Given the description of an element on the screen output the (x, y) to click on. 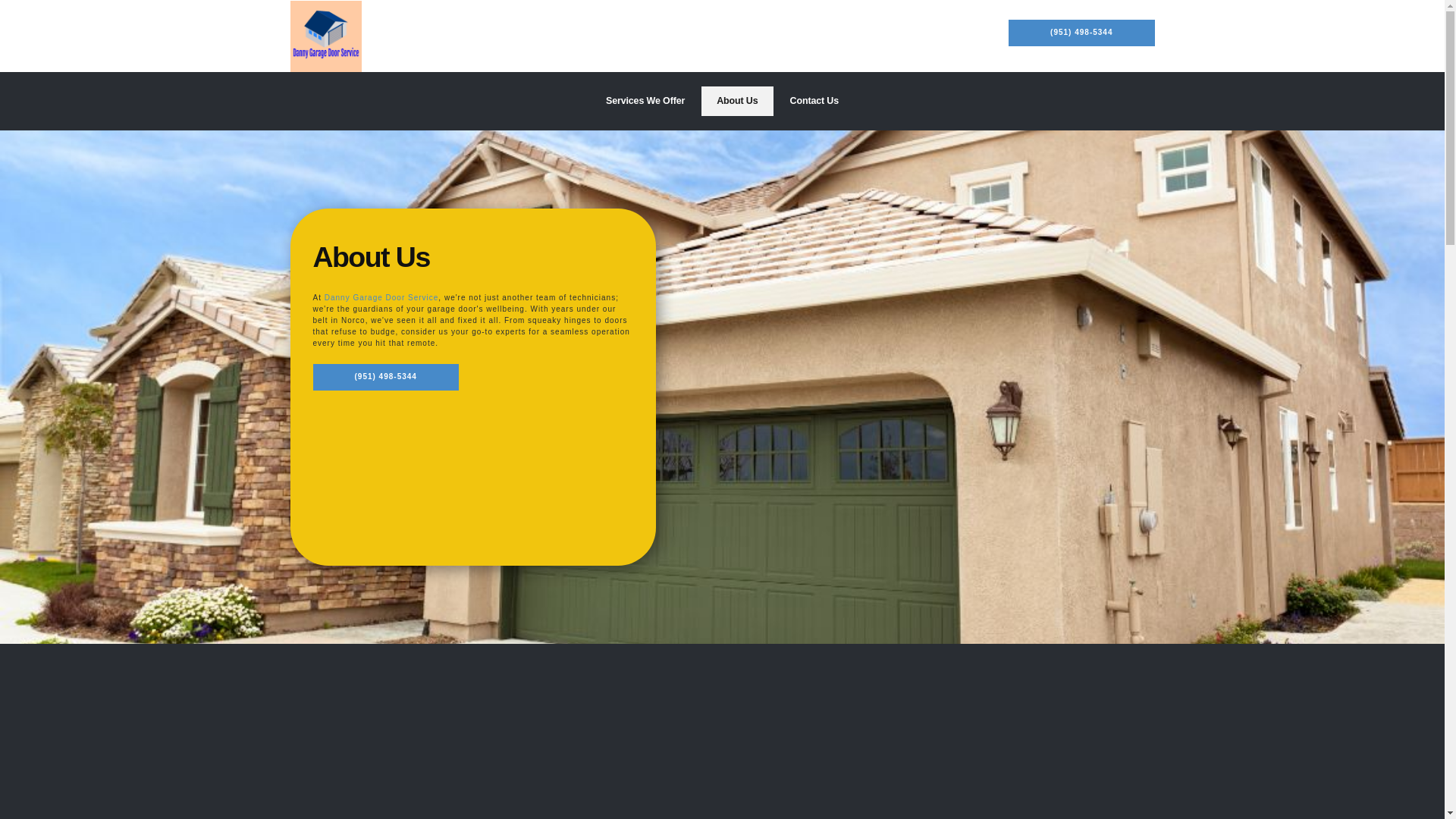
Danny Garage Door Service (325, 36)
Danny Garage Door Service (381, 297)
Services We Offer (645, 101)
About Us (737, 101)
Contact Us (813, 101)
